Given the description of an element on the screen output the (x, y) to click on. 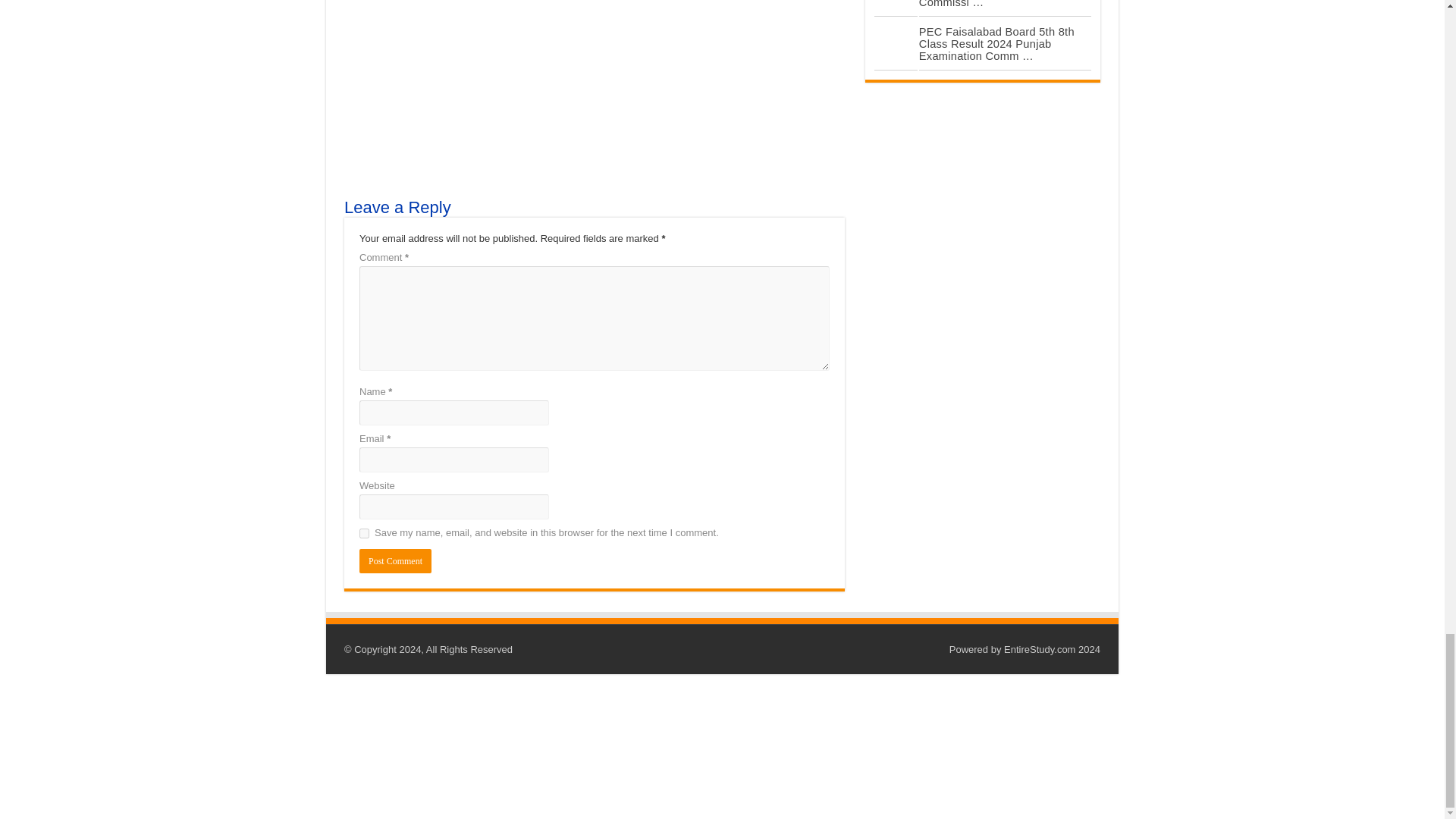
Advertisement (593, 83)
yes (364, 533)
Post Comment (394, 560)
